Given the description of an element on the screen output the (x, y) to click on. 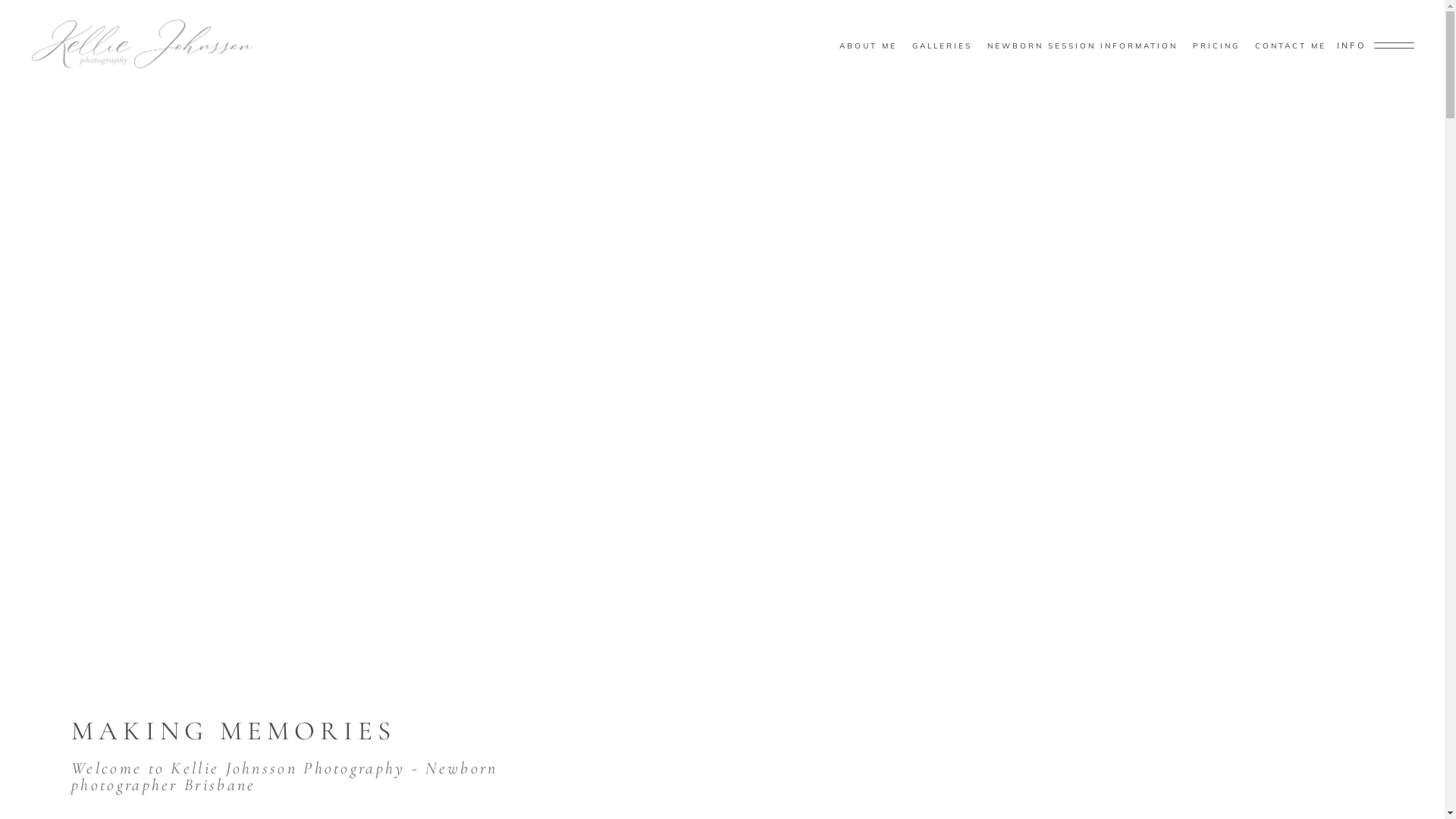
GALLERIES Element type: text (941, 44)
PRICING Element type: text (1216, 44)
ABOUT ME Element type: text (867, 44)
CONTACT ME Element type: text (1290, 44)
INFO Element type: text (1375, 45)
NEWBORN SESSION INFORMATION Element type: text (1082, 44)
